Given the description of an element on the screen output the (x, y) to click on. 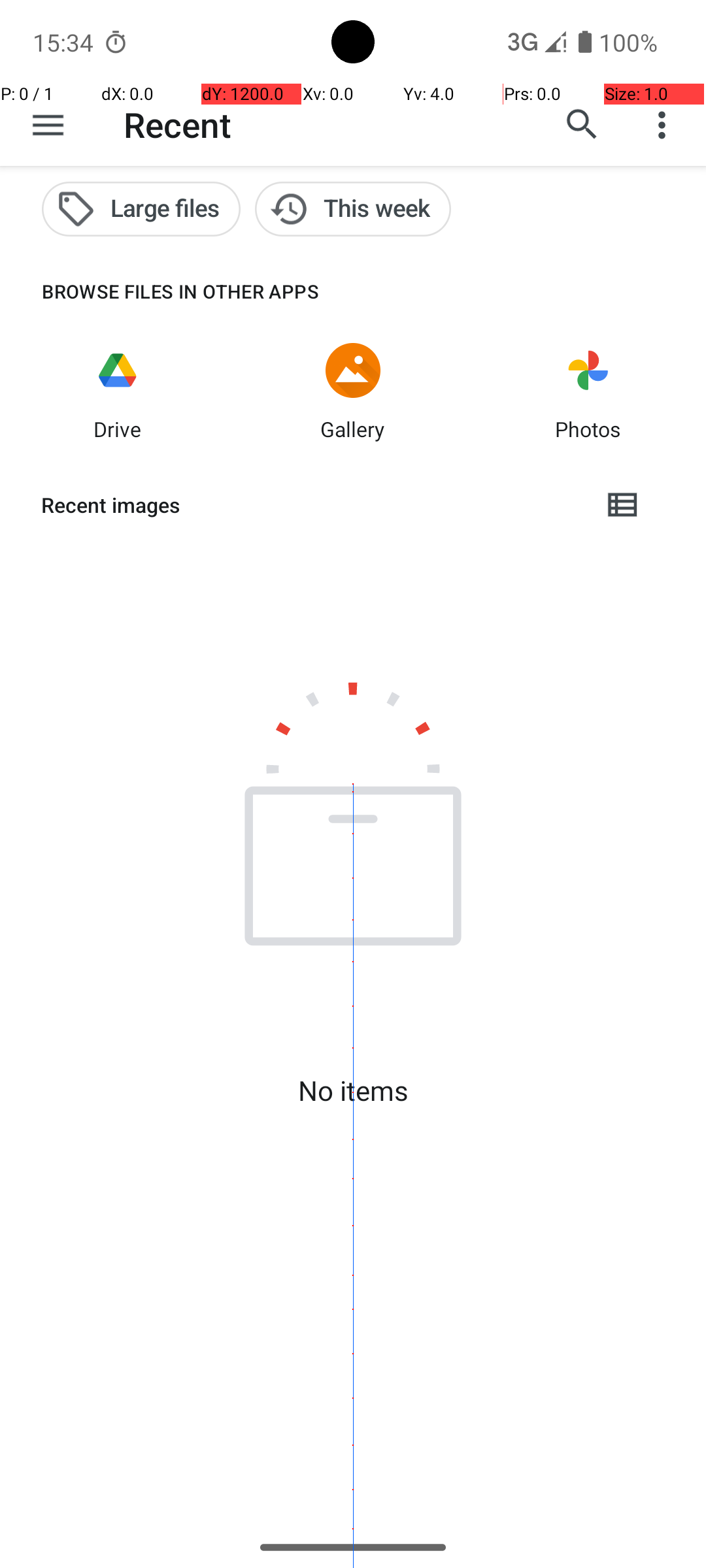
BROWSE FILES IN OTHER APPS Element type: android.widget.TextView (159, 291)
Recent images Element type: android.widget.TextView (311, 504)
Drive Element type: android.widget.TextView (117, 428)
Gallery Element type: android.widget.TextView (352, 428)
